Given the description of an element on the screen output the (x, y) to click on. 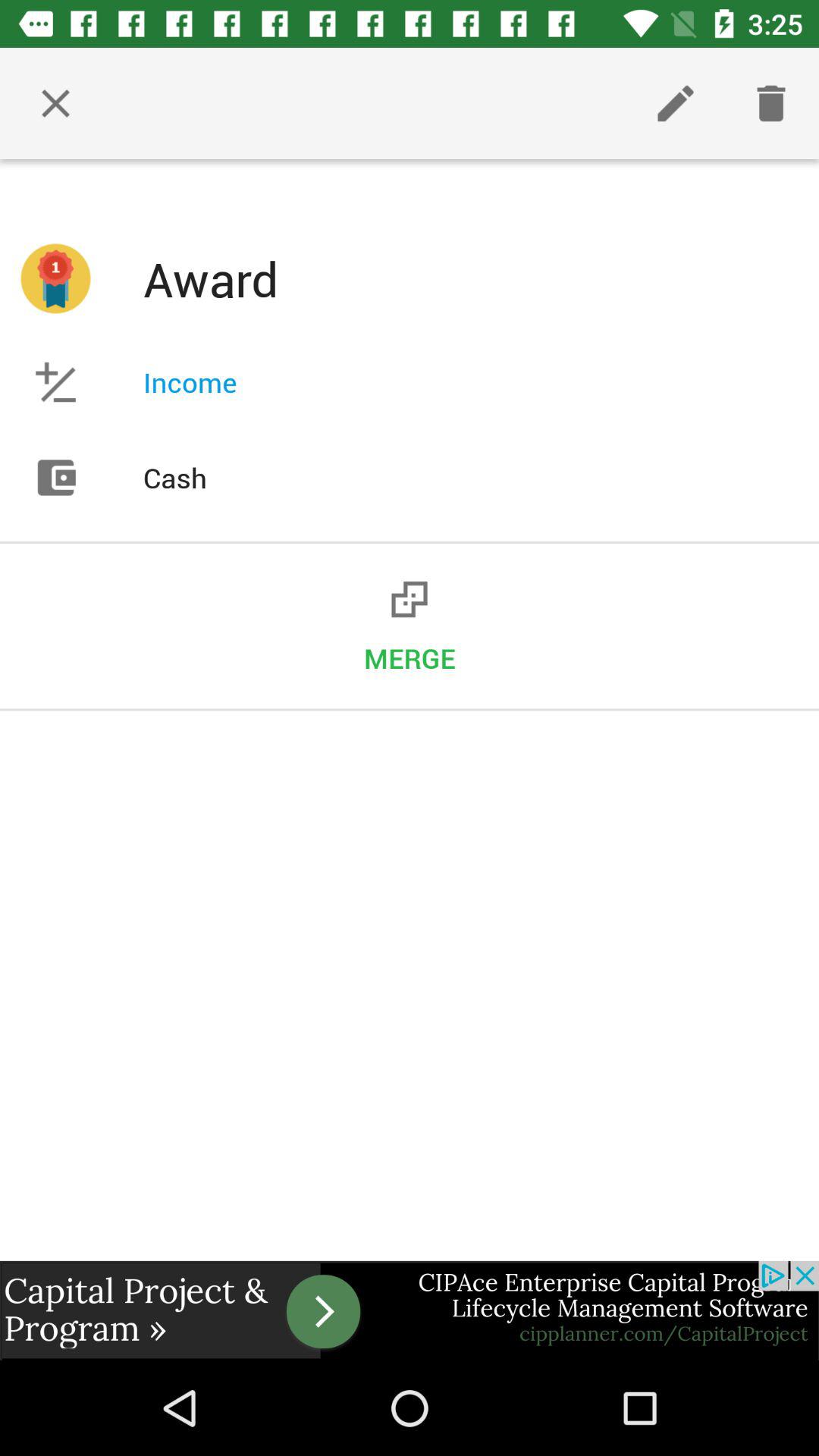
select the icon which is before cash (55, 478)
